Given the description of an element on the screen output the (x, y) to click on. 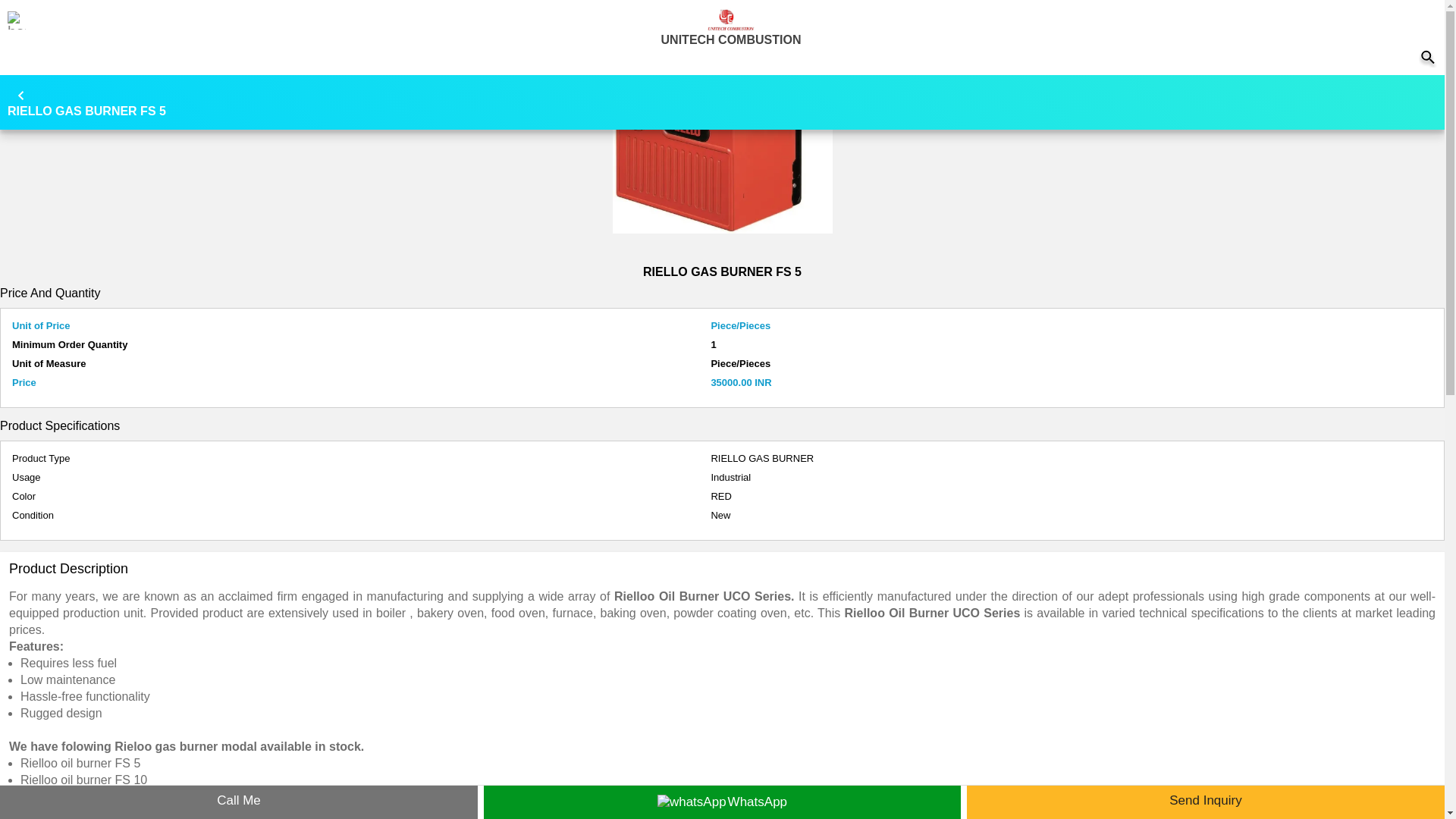
UNITECH COMBUSTION (730, 18)
